Given the description of an element on the screen output the (x, y) to click on. 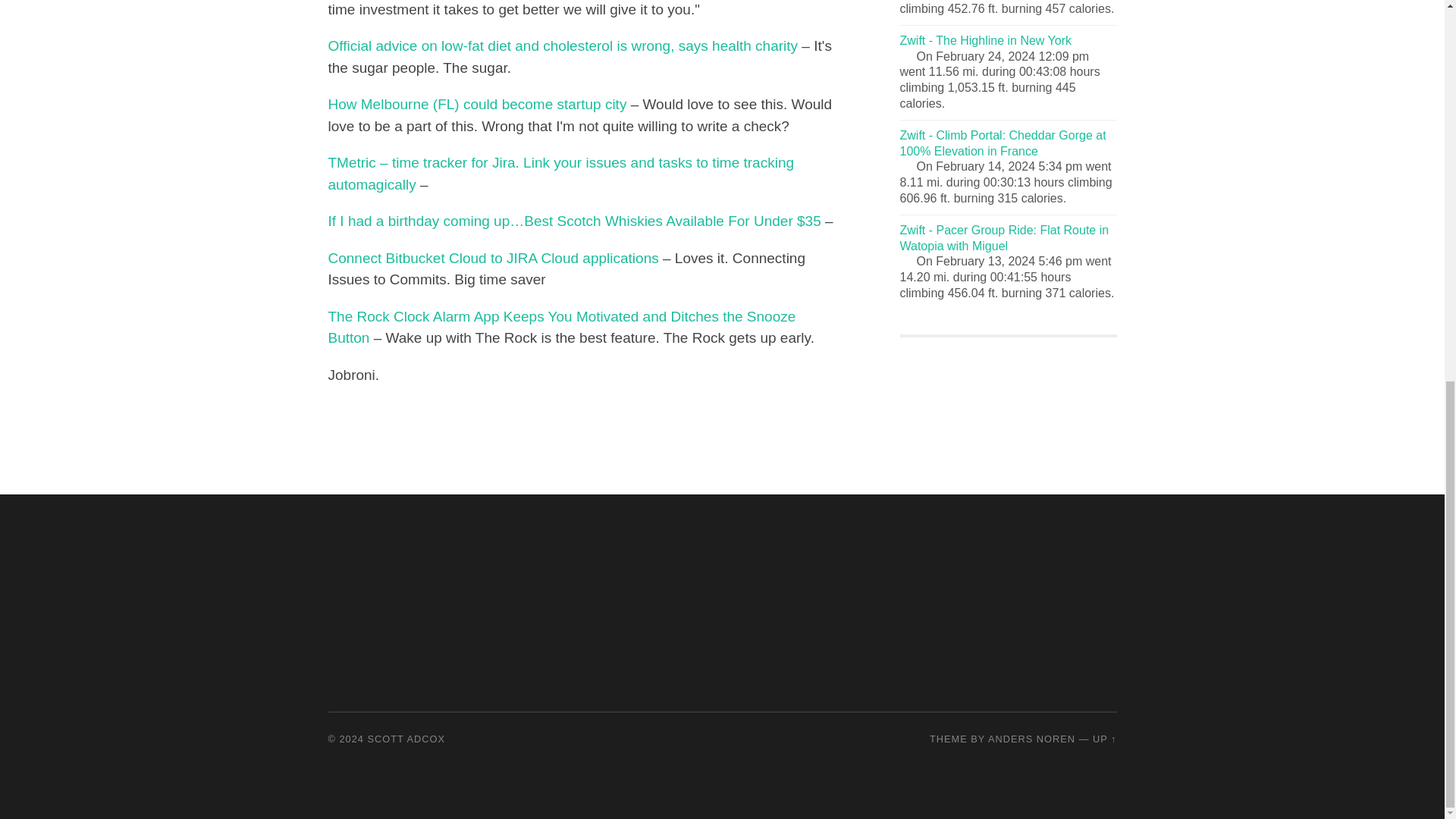
To the top (1104, 738)
